Given the description of an element on the screen output the (x, y) to click on. 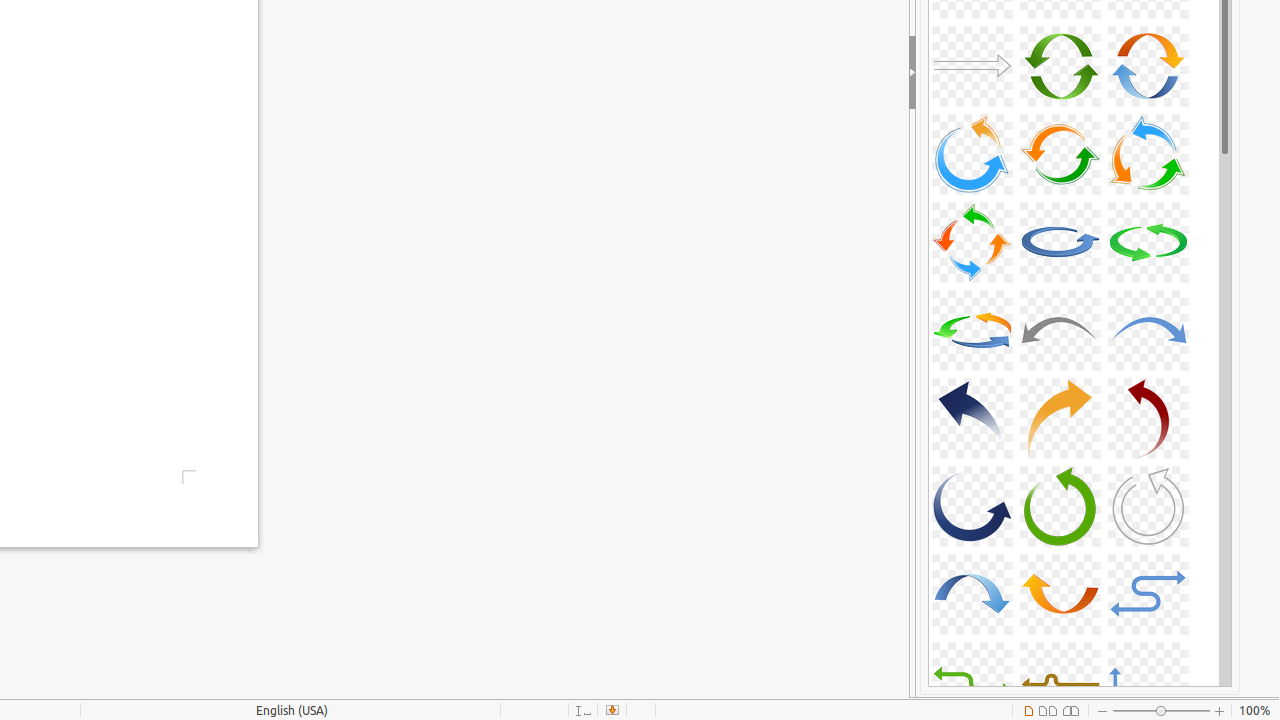
A18-CircleArrow Element type: list-item (1148, 154)
A22-CircleArrow Element type: list-item (972, 330)
A20-CircleArrow-LightBlue Element type: list-item (1060, 242)
A30-CurvedArrow-Gray Element type: list-item (1148, 506)
A13-Arrow-Gray-Right Element type: list-item (972, 65)
